Given the description of an element on the screen output the (x, y) to click on. 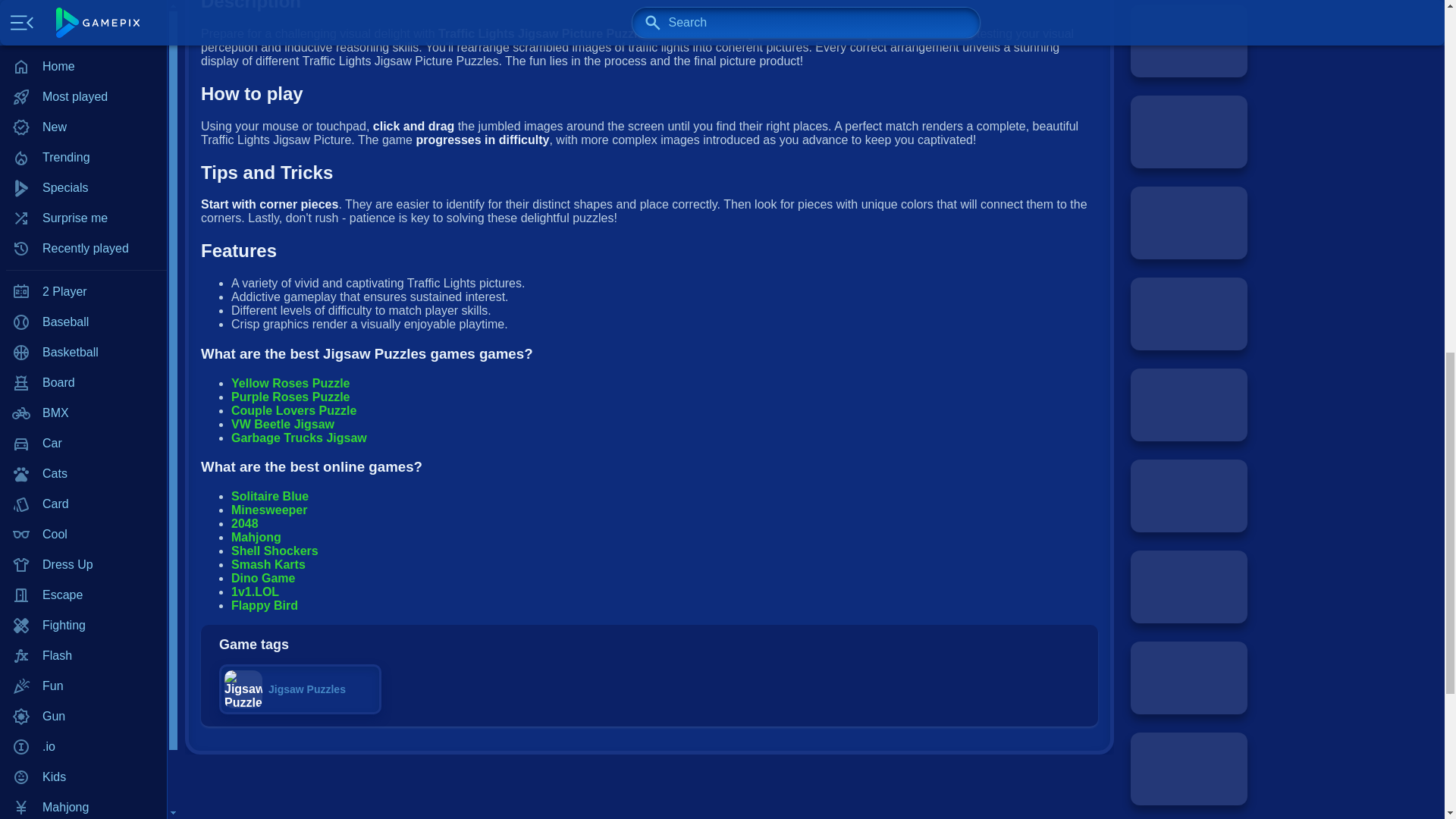
Zombie (83, 382)
Puzzle (83, 110)
Soccer (83, 291)
Racing (83, 140)
Solitaire (83, 231)
Math (83, 49)
Mahjong (83, 2)
War (83, 322)
Poker (83, 79)
Snake (83, 261)
